Given the description of an element on the screen output the (x, y) to click on. 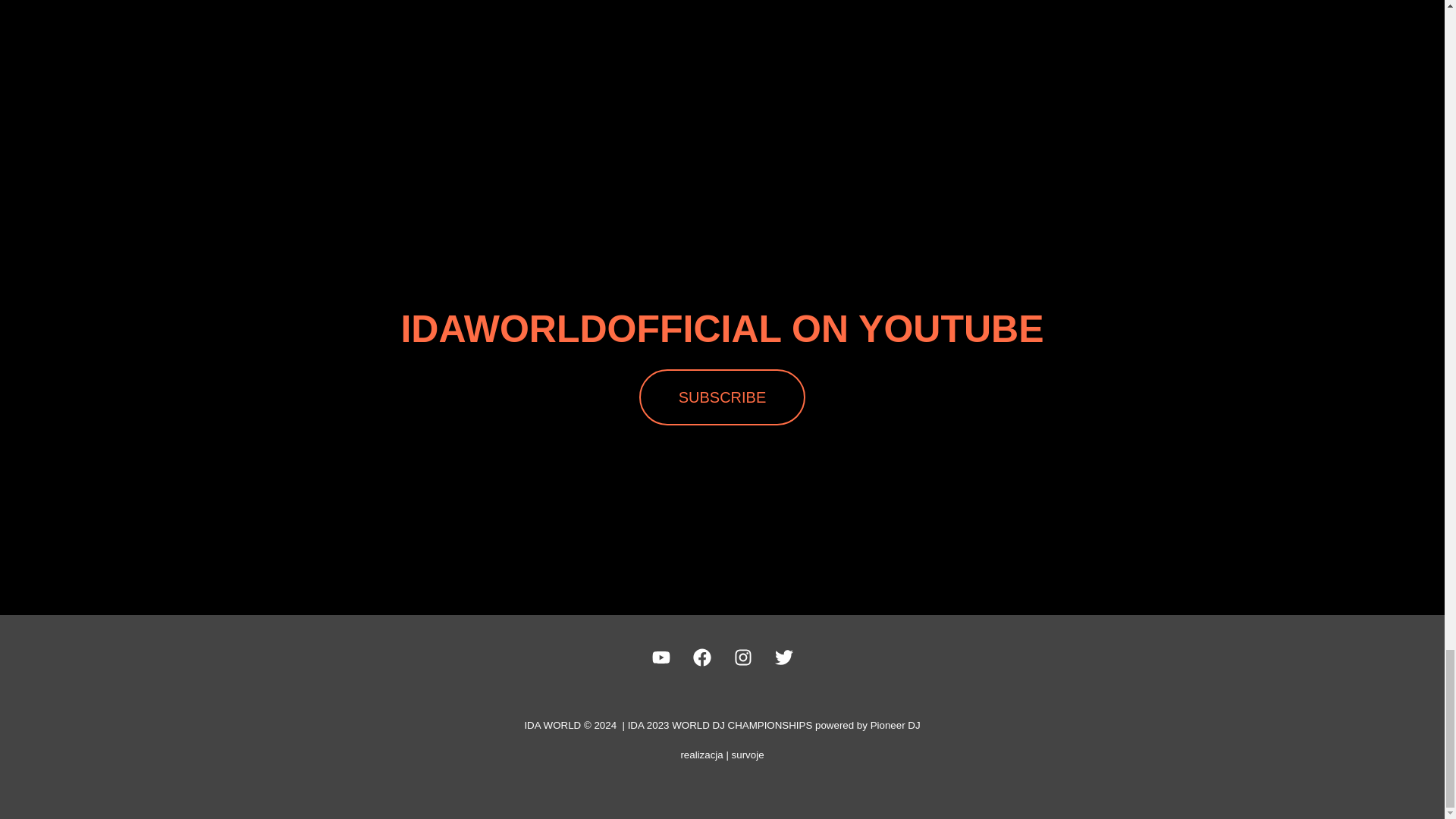
SUBSCRIBE (722, 397)
survoje (748, 754)
